Given the description of an element on the screen output the (x, y) to click on. 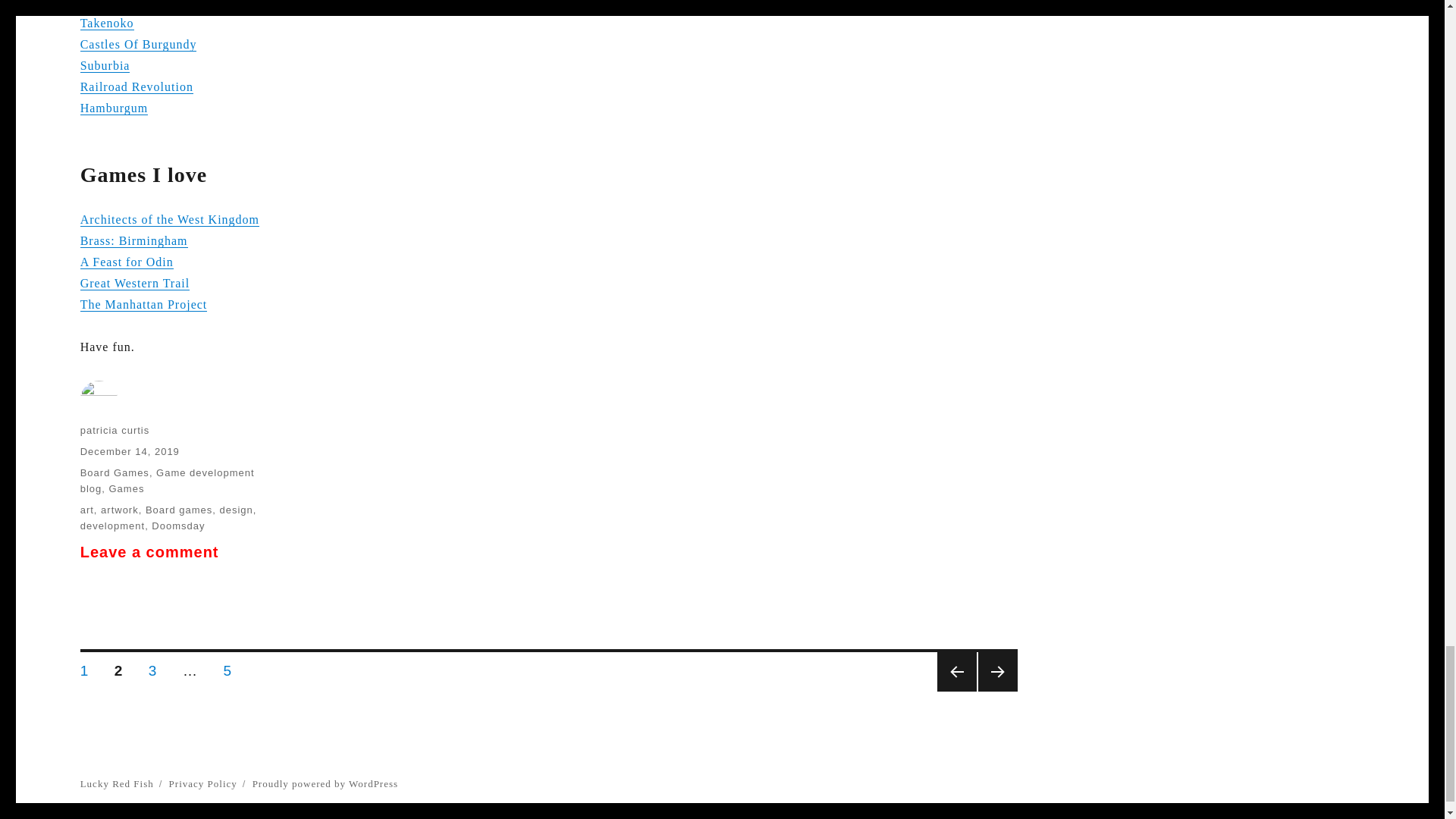
The Manhattan Project (144, 304)
Castles Of Burgundy (138, 43)
Suburbia (105, 65)
Great Western Trail (135, 282)
Board Games (114, 472)
Architects of the West Kingdom (169, 219)
Brass: Birmingham (133, 240)
patricia curtis (114, 430)
The Voyages of Marco Polo (157, 4)
A Feast for Odin (126, 261)
Hamburgum (114, 107)
Railroad Revolution (136, 86)
Takenoko (106, 22)
December 14, 2019 (129, 451)
